Given the description of an element on the screen output the (x, y) to click on. 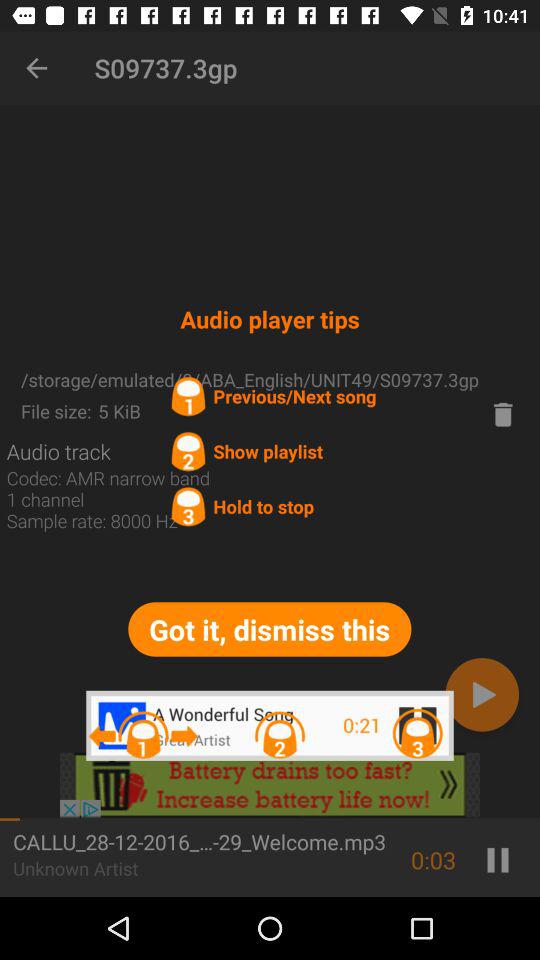
scroll to 0:03 icon (433, 860)
